Given the description of an element on the screen output the (x, y) to click on. 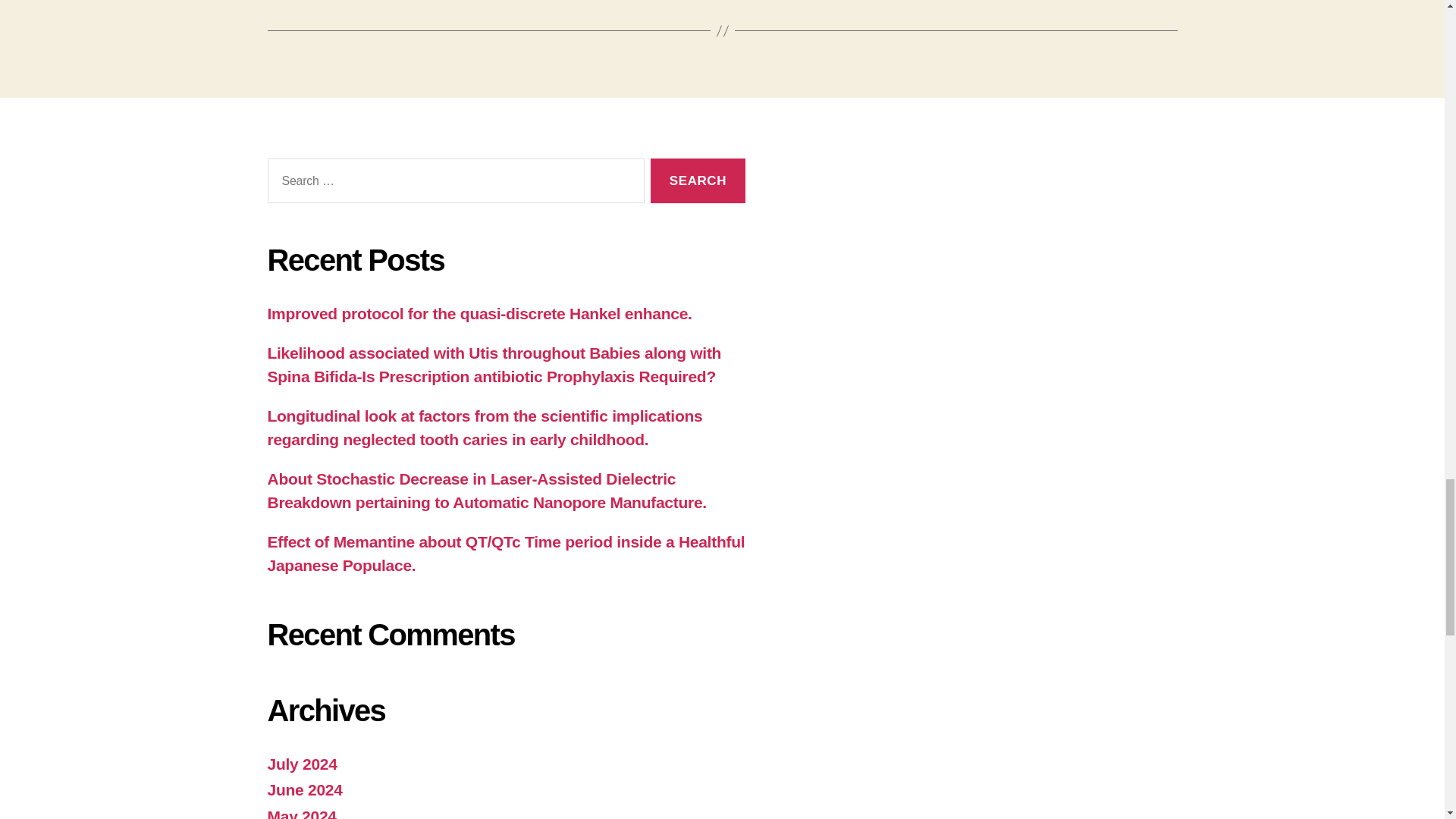
Search (697, 180)
Search (697, 180)
